Given the description of an element on the screen output the (x, y) to click on. 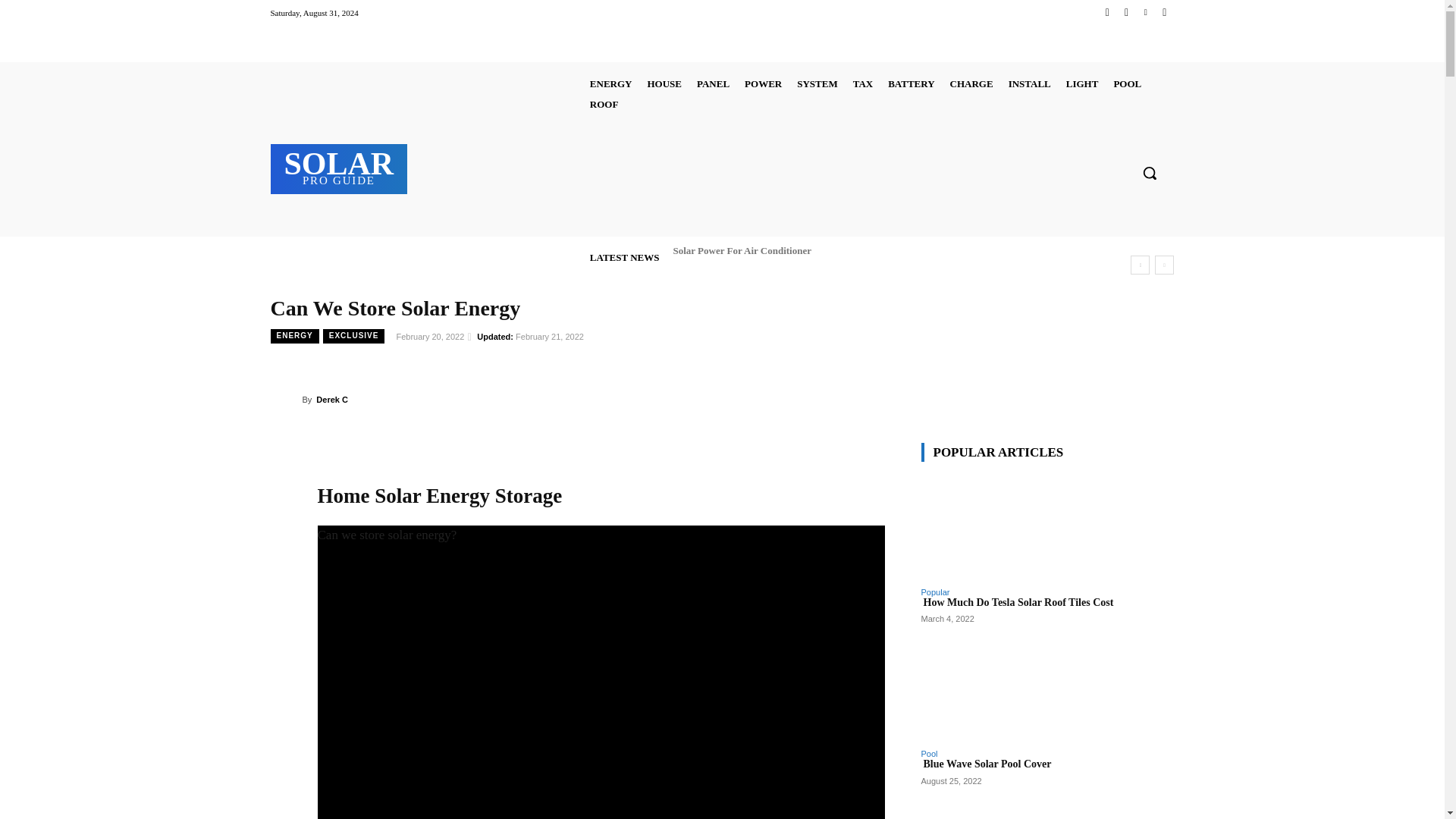
Solar Power For Air Conditioner (740, 250)
Facebook (1106, 12)
Youtube (1163, 12)
Twitter (1144, 12)
Instagram (1125, 12)
